Given the description of an element on the screen output the (x, y) to click on. 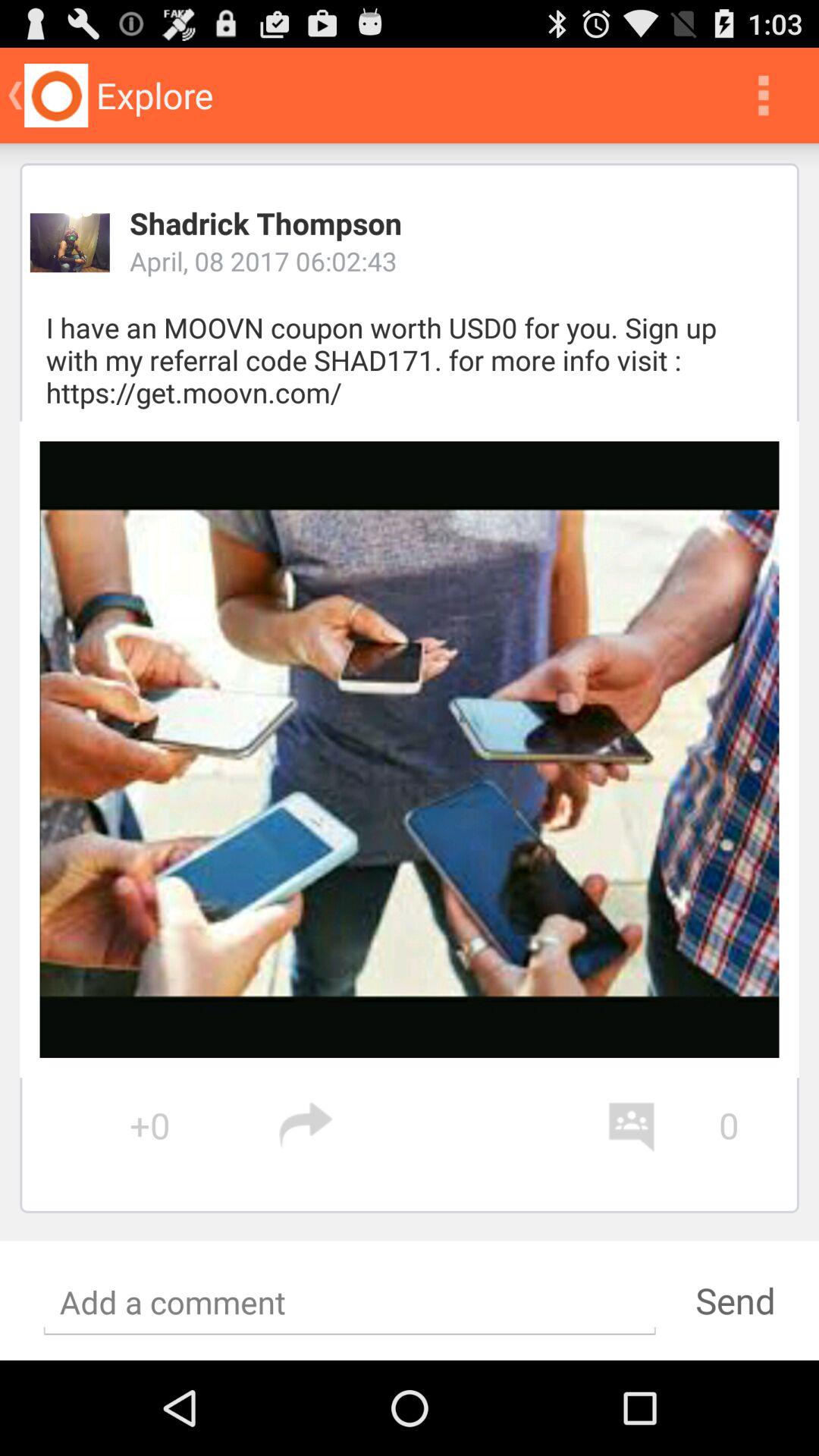
launch send item (735, 1300)
